Given the description of an element on the screen output the (x, y) to click on. 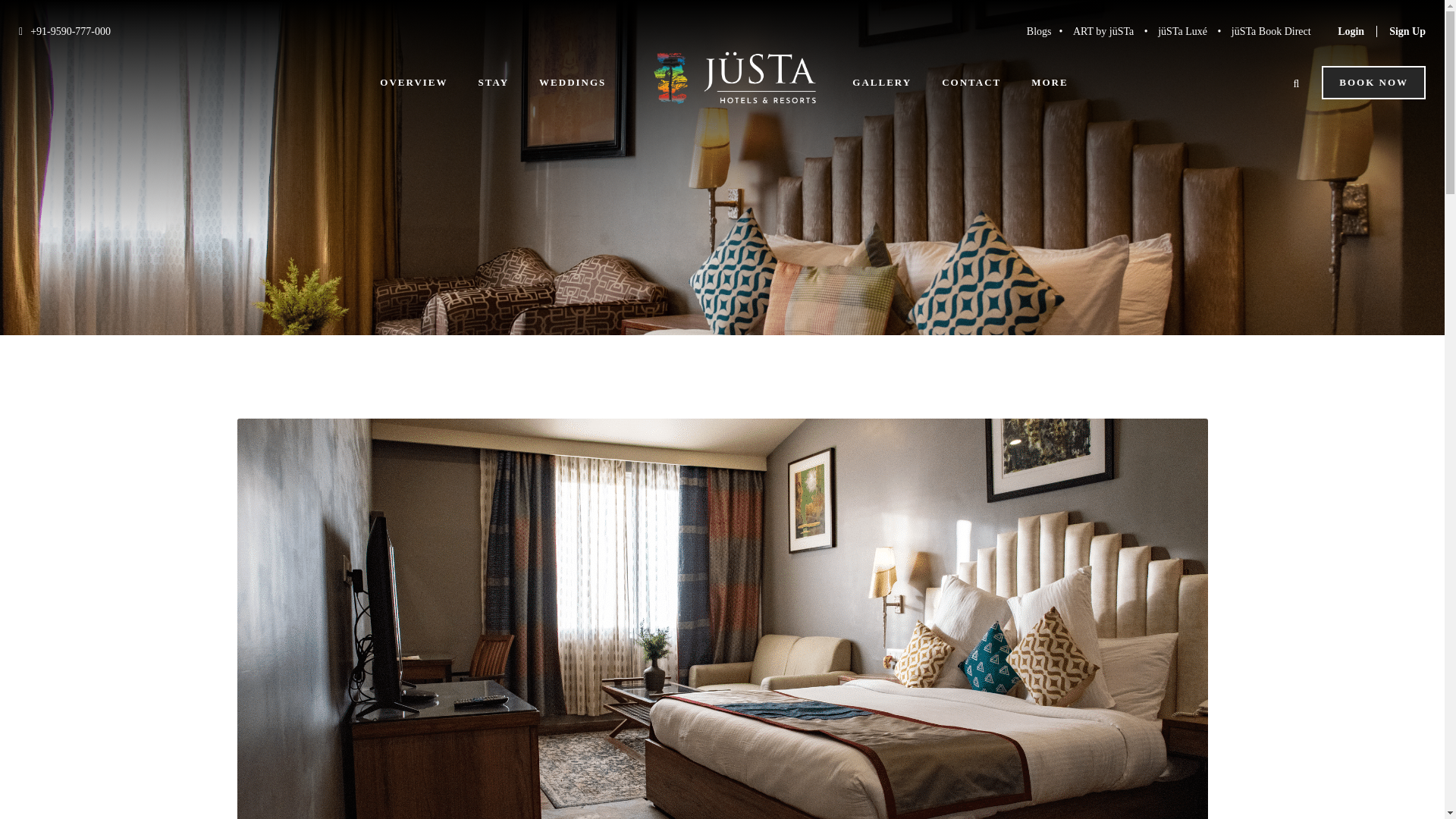
Blogs (1038, 30)
GALLERY (881, 92)
MORE (1048, 92)
CONTACT (971, 92)
WEDDINGS (571, 92)
OVERVIEW (413, 92)
